Given the description of an element on the screen output the (x, y) to click on. 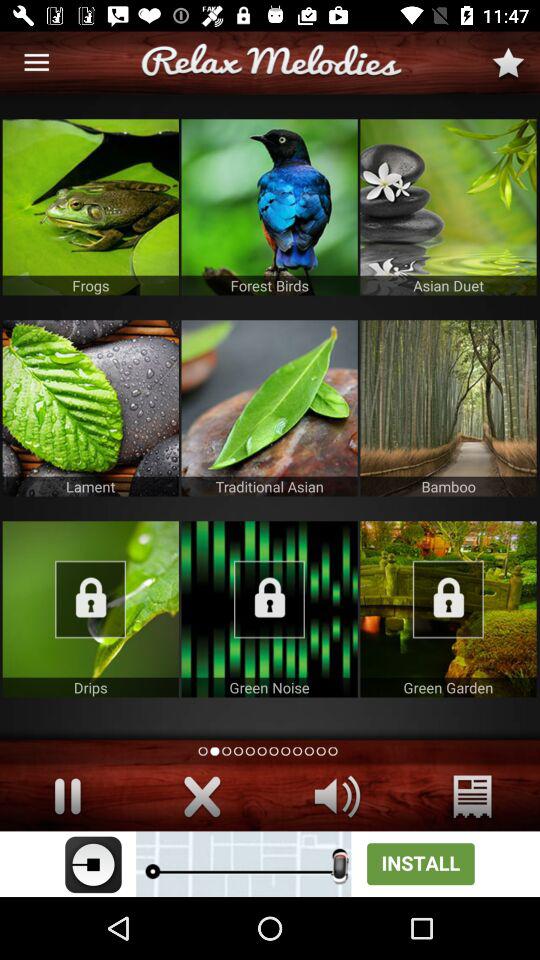
advertisement (90, 408)
